Given the description of an element on the screen output the (x, y) to click on. 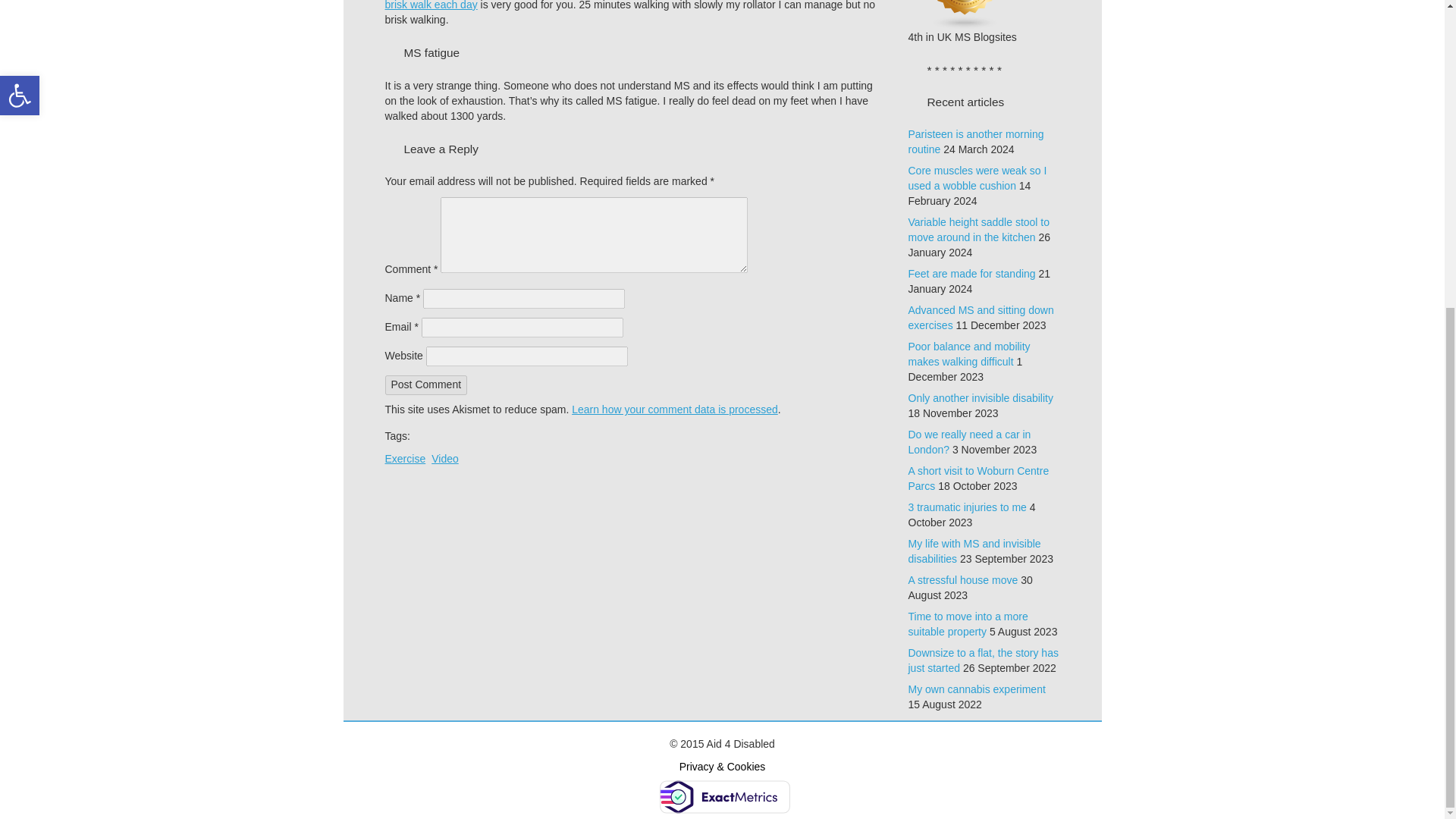
Post Comment (426, 384)
